Given the description of an element on the screen output the (x, y) to click on. 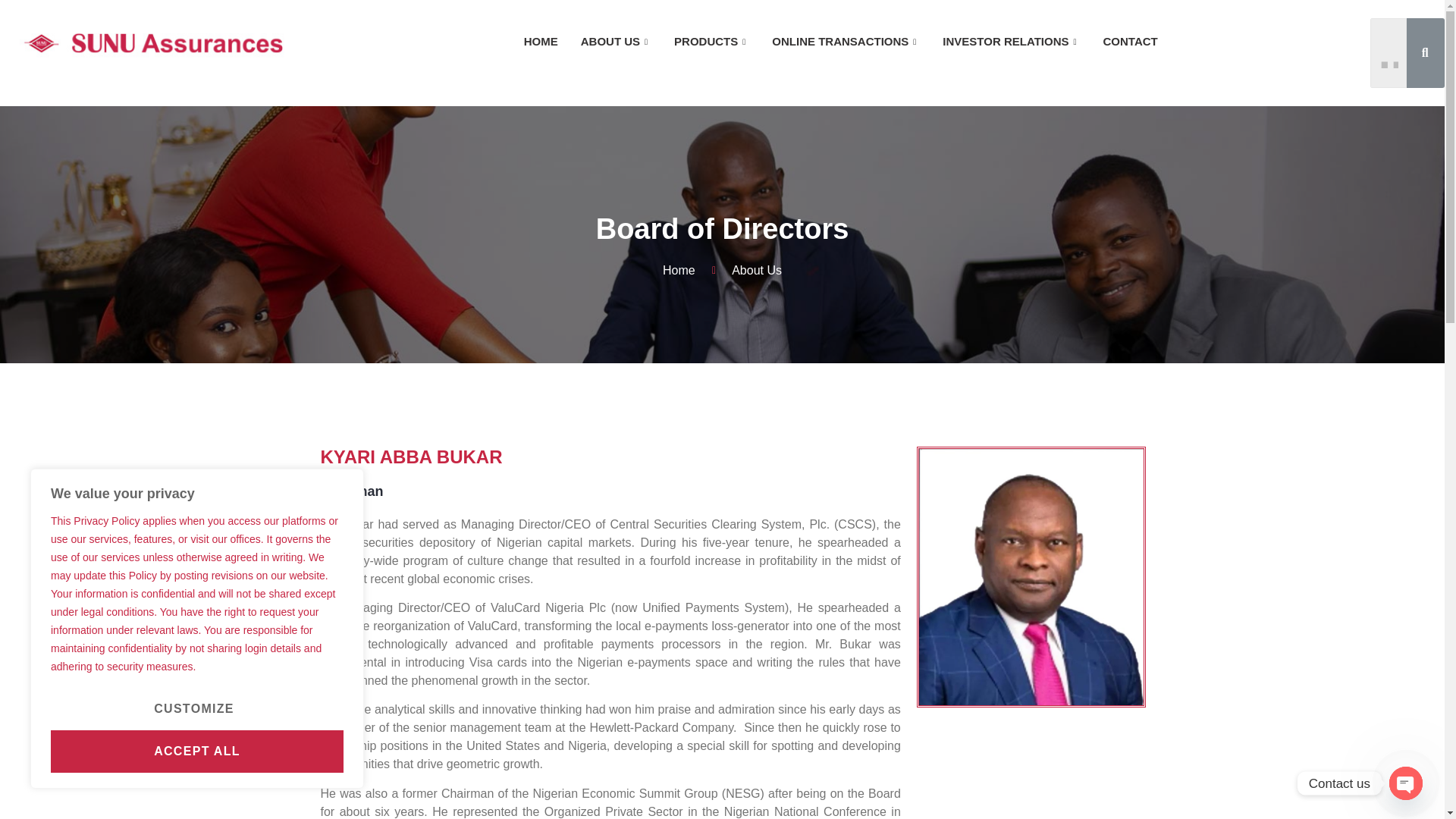
ACCEPT ALL (196, 751)
ONLINE TRANSACTIONS (845, 41)
Chairman (609, 492)
INVESTOR RELATIONS (1010, 41)
CUSTOMIZE (193, 708)
Board of Directors (722, 229)
KYARI ABBA BUKAR (609, 457)
ABOUT US (615, 41)
HOME (722, 270)
PRODUCTS (540, 41)
